Given the description of an element on the screen output the (x, y) to click on. 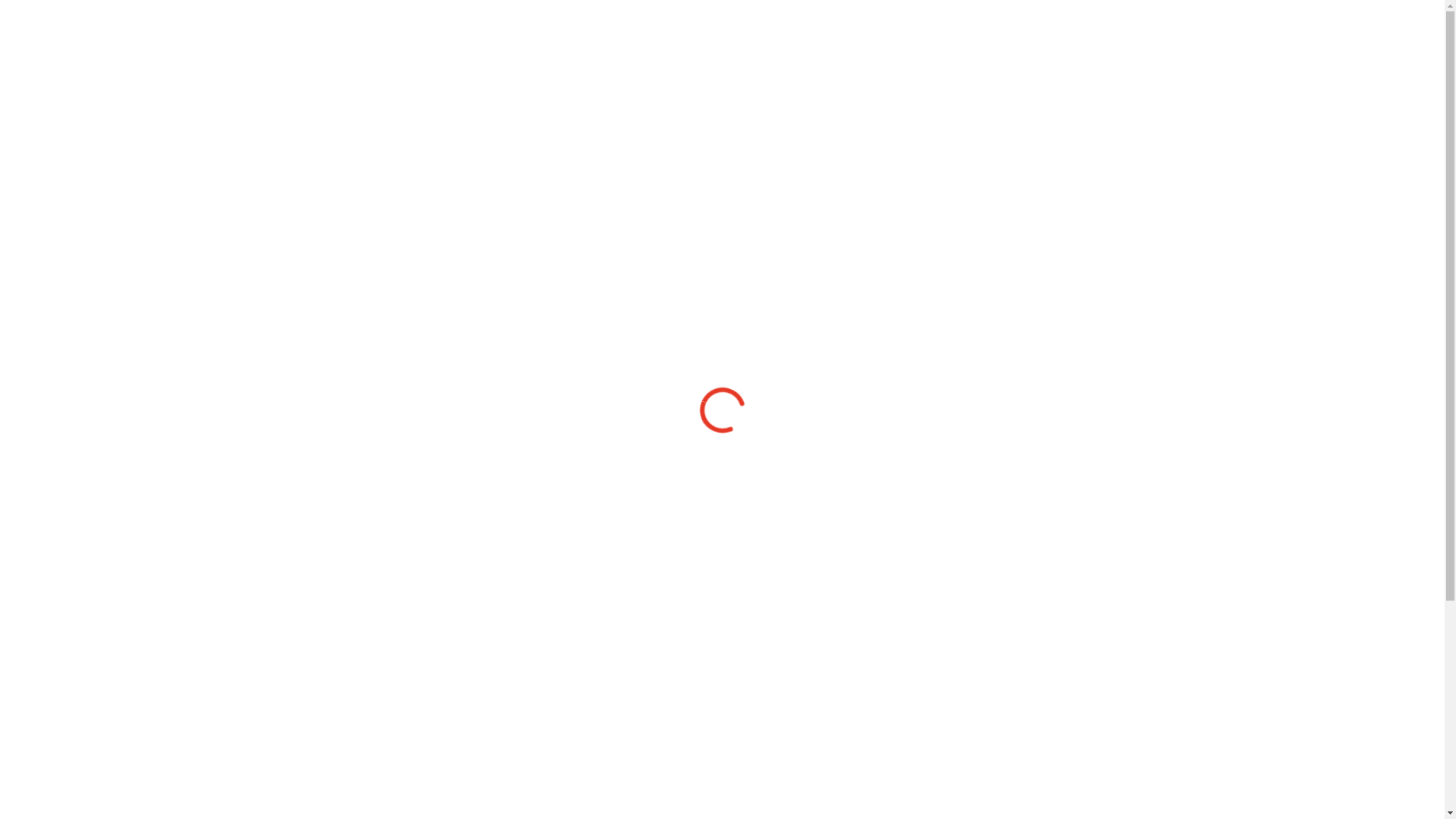
Back Home Element type: text (721, 501)
Home Element type: text (401, 760)
Menu Element type: text (1176, 38)
Impressum Element type: text (616, 760)
Prozesse Element type: text (401, 793)
